Given the description of an element on the screen output the (x, y) to click on. 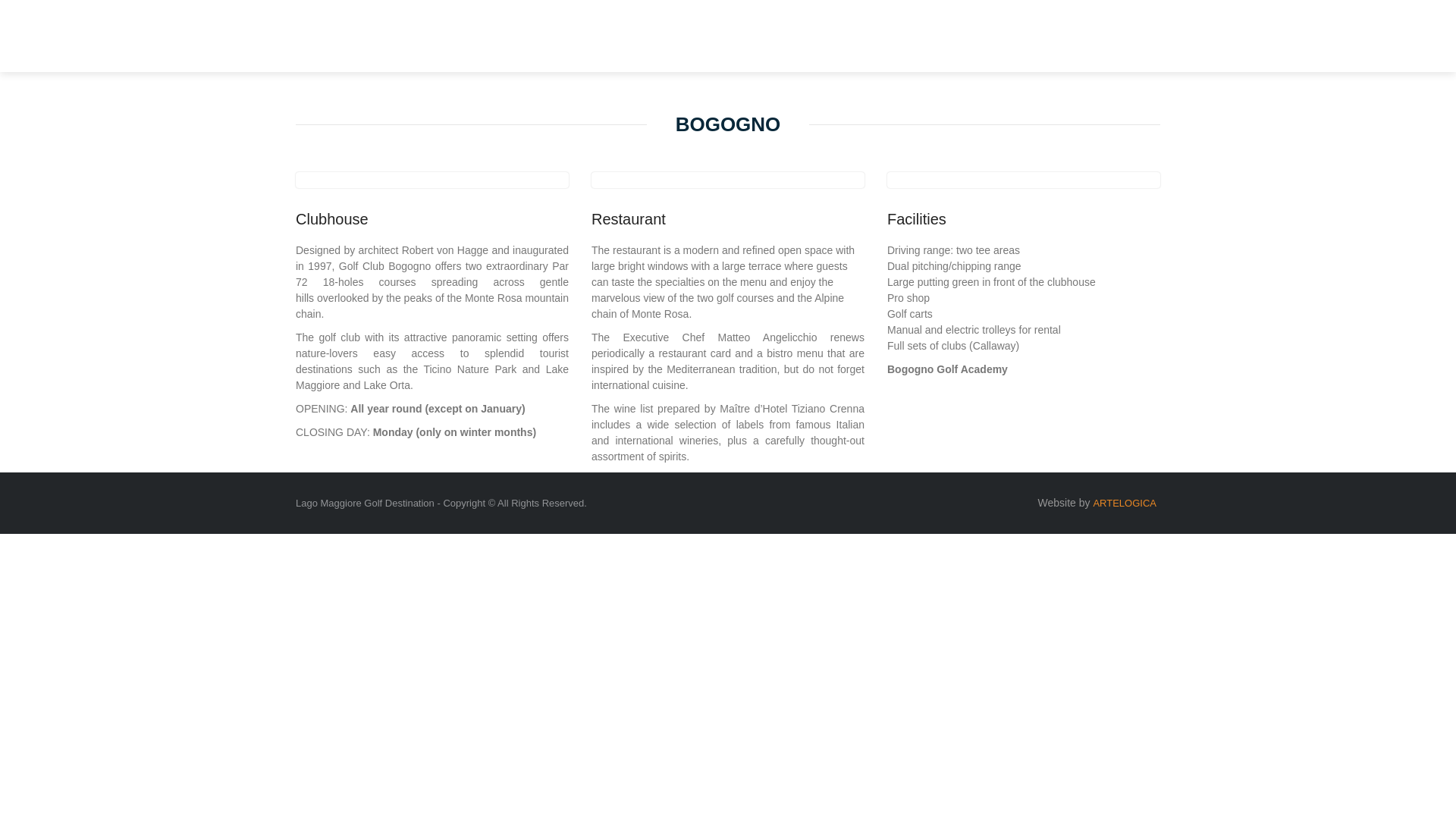
Facilities (1023, 218)
Clubhouse (432, 218)
Restaurant (727, 218)
ARTELOGICA (1124, 502)
